Given the description of an element on the screen output the (x, y) to click on. 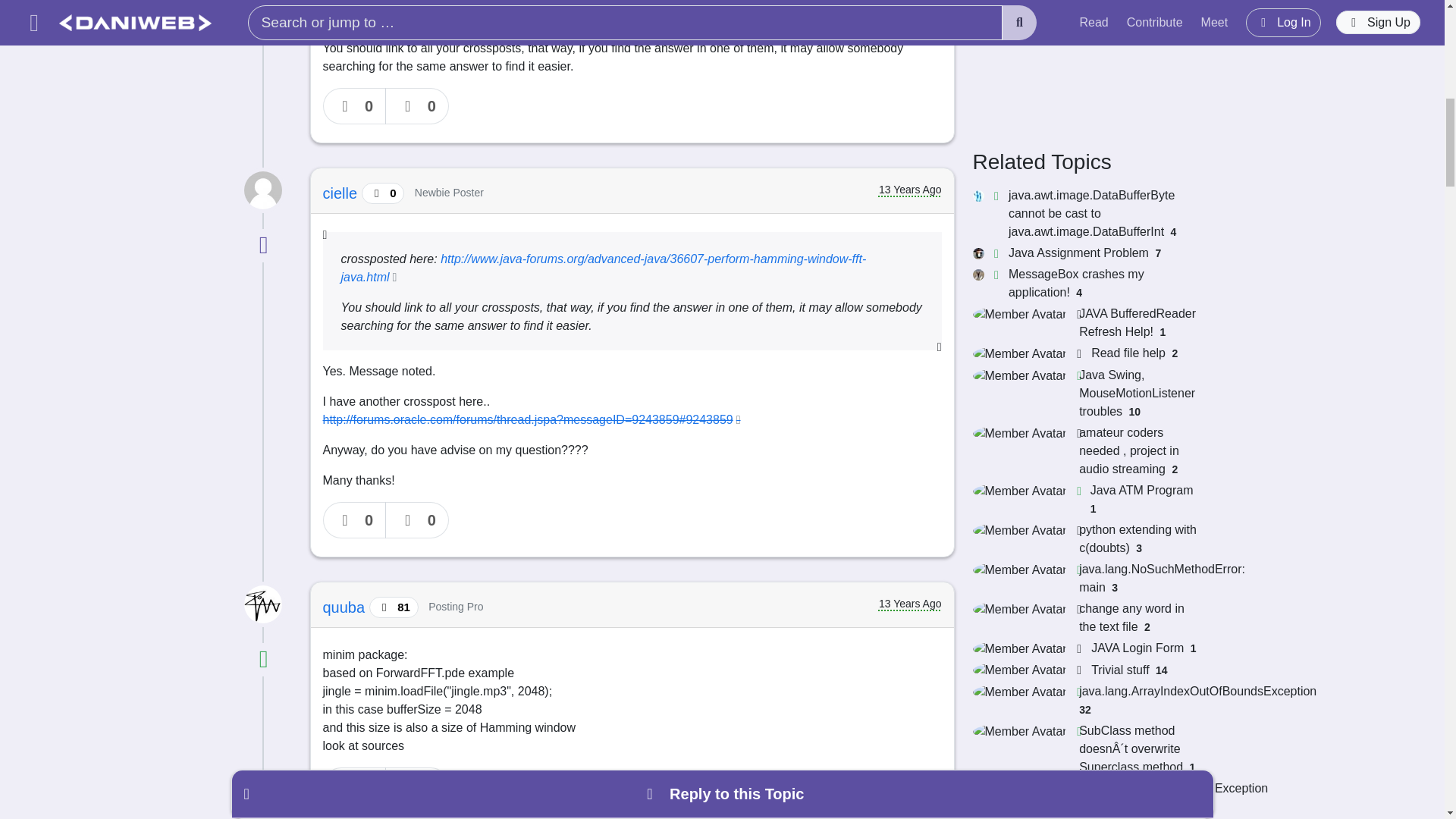
quuba (346, 606)
0 (416, 105)
0 (355, 785)
0 (416, 785)
0 (355, 520)
0 (355, 105)
cielle (342, 193)
0 (416, 520)
